Given the description of an element on the screen output the (x, y) to click on. 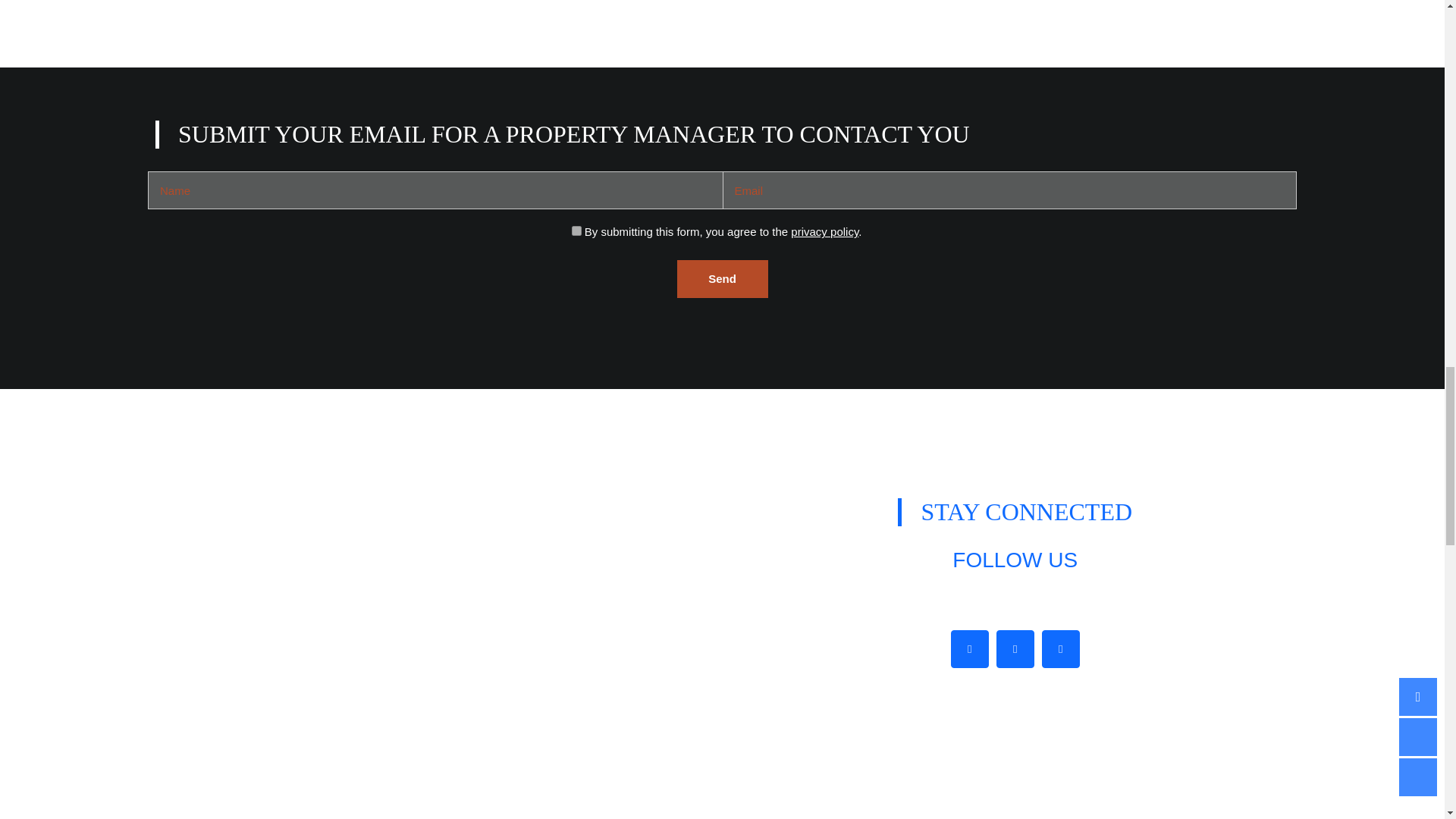
Send (722, 279)
Facebook (969, 648)
Send (722, 279)
privacy policy (824, 231)
Google My Business (1061, 648)
Yelp (1014, 648)
true (576, 230)
